Given the description of an element on the screen output the (x, y) to click on. 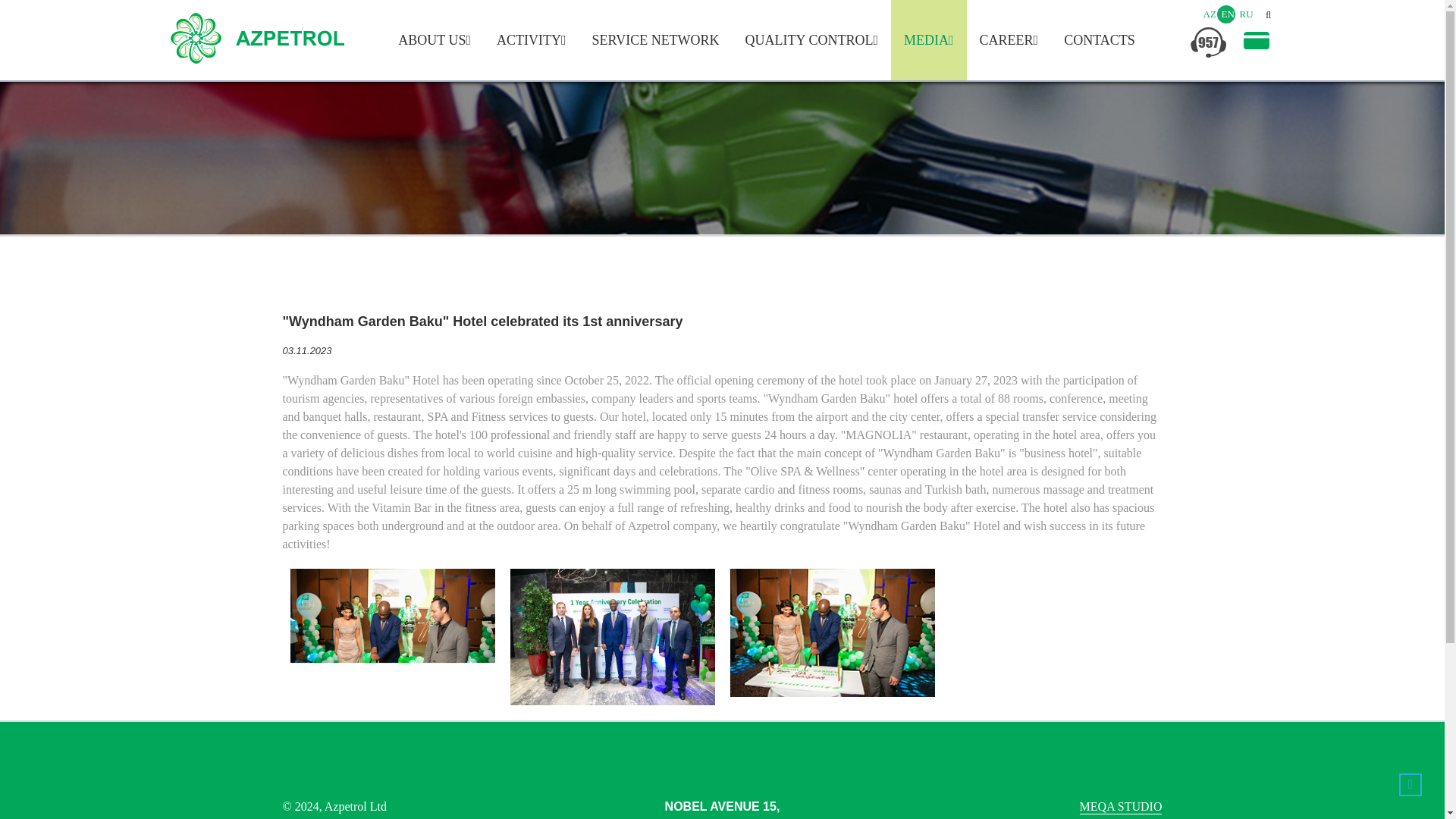
CONTACTS (1099, 40)
CAREER (1008, 40)
ABOUT US (56, 54)
SERVICE NETWORK (655, 40)
QUALITY CONTROL (811, 40)
ACTIVITY (531, 40)
ABOUT US (434, 40)
ABOUT US (434, 40)
AZ (1209, 14)
MEDIA (928, 40)
